Given the description of an element on the screen output the (x, y) to click on. 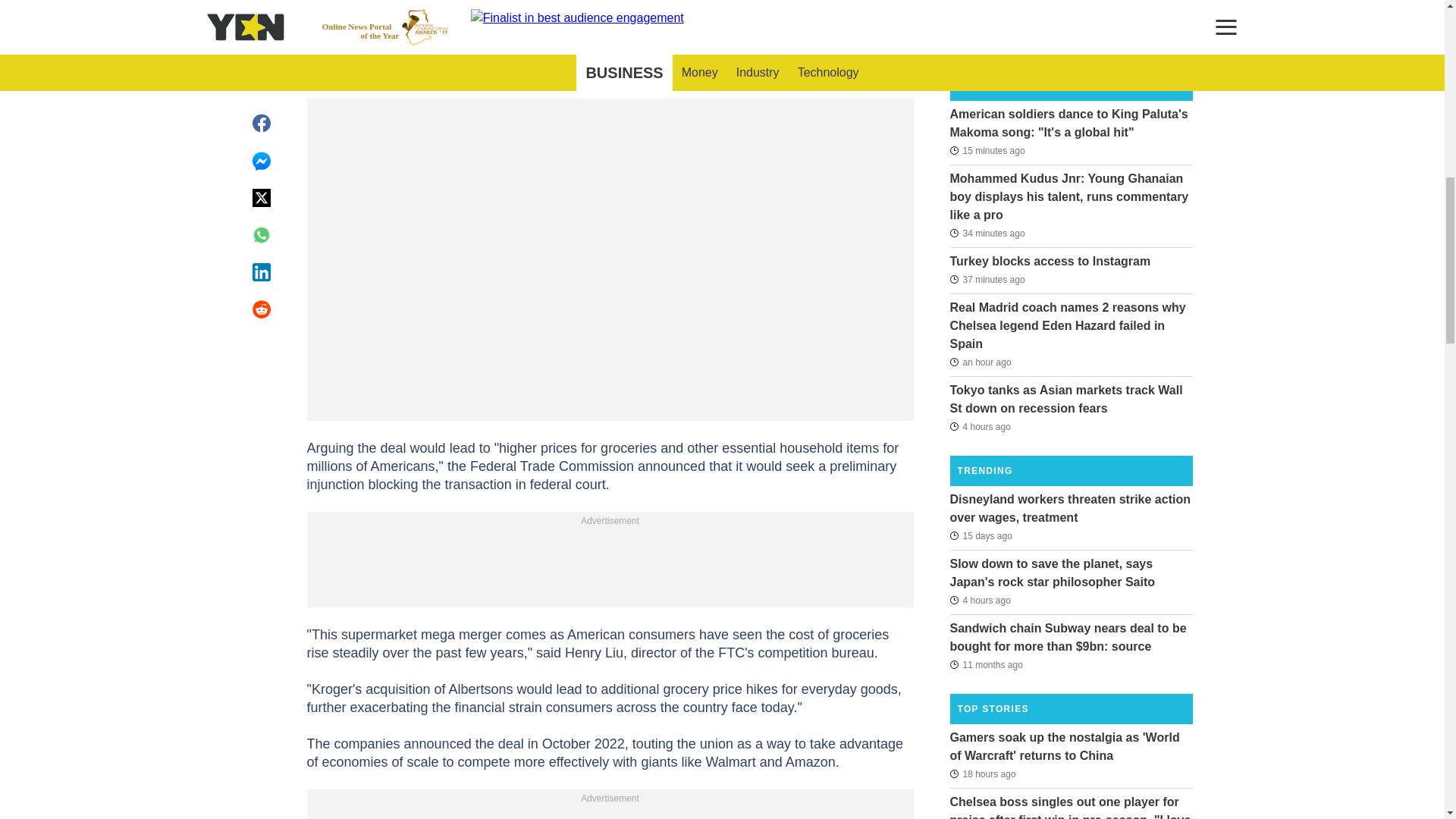
2024-08-02T02:44:04Z (979, 425)
2023-08-22T16:56:05Z (985, 664)
FB Broadcast Channel (594, 12)
2024-08-02T06:01:09Z (979, 361)
2024-07-18T02:29:03Z (980, 535)
2024-08-02T06:49:43Z (987, 149)
2024-08-02T06:28:04Z (987, 279)
2024-08-02T06:31:20Z (987, 233)
2024-08-01T12:10:14Z (981, 773)
2024-08-02T02:33:04Z (979, 600)
